Given the description of an element on the screen output the (x, y) to click on. 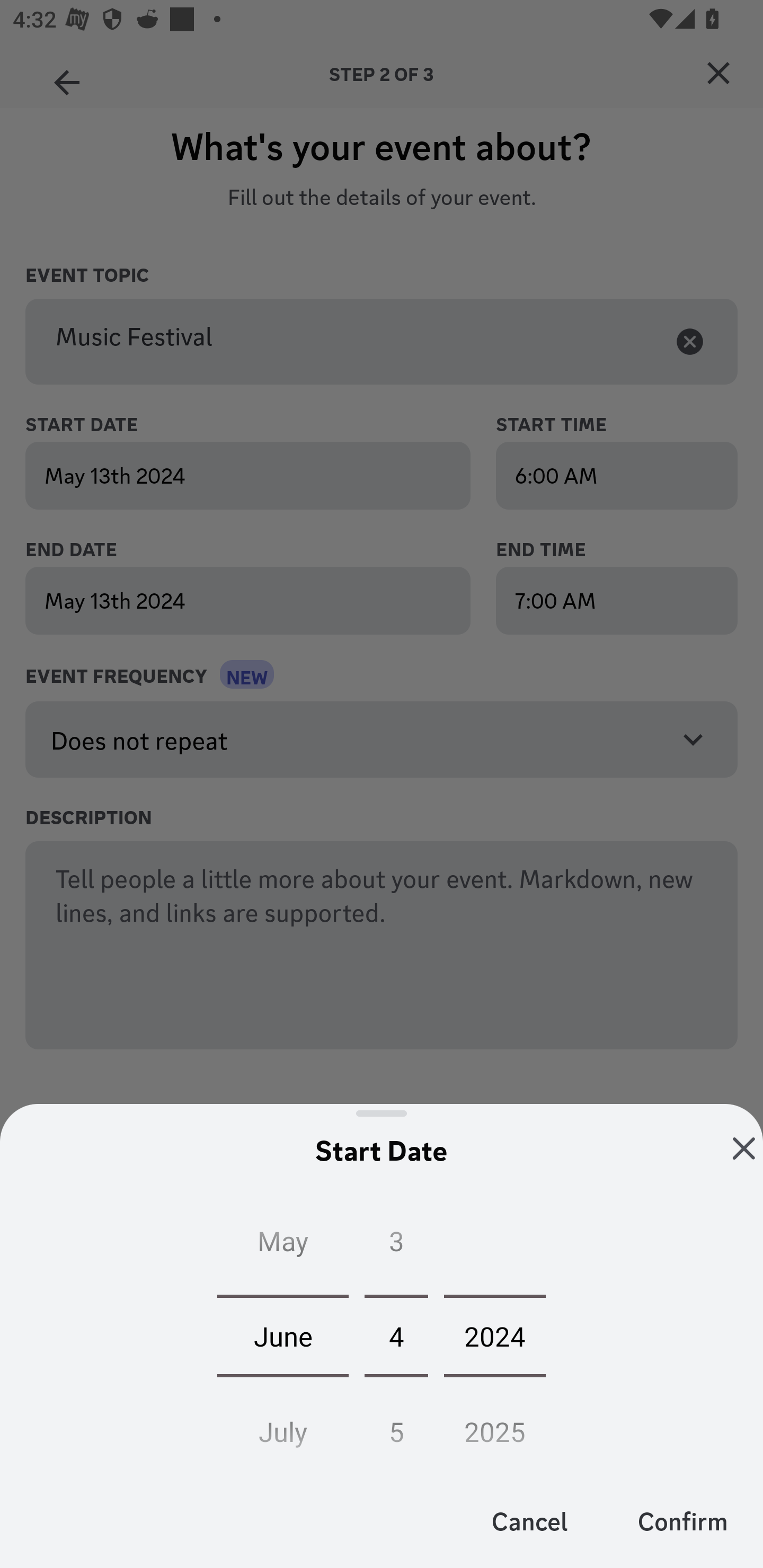
Close (743, 1148)
May (282, 1245)
3 (396, 1245)
June (282, 1335)
4 (396, 1335)
2024 (494, 1335)
July (282, 1425)
5 (396, 1425)
2025 (494, 1425)
Cancel (529, 1520)
Confirm (682, 1520)
